Given the description of an element on the screen output the (x, y) to click on. 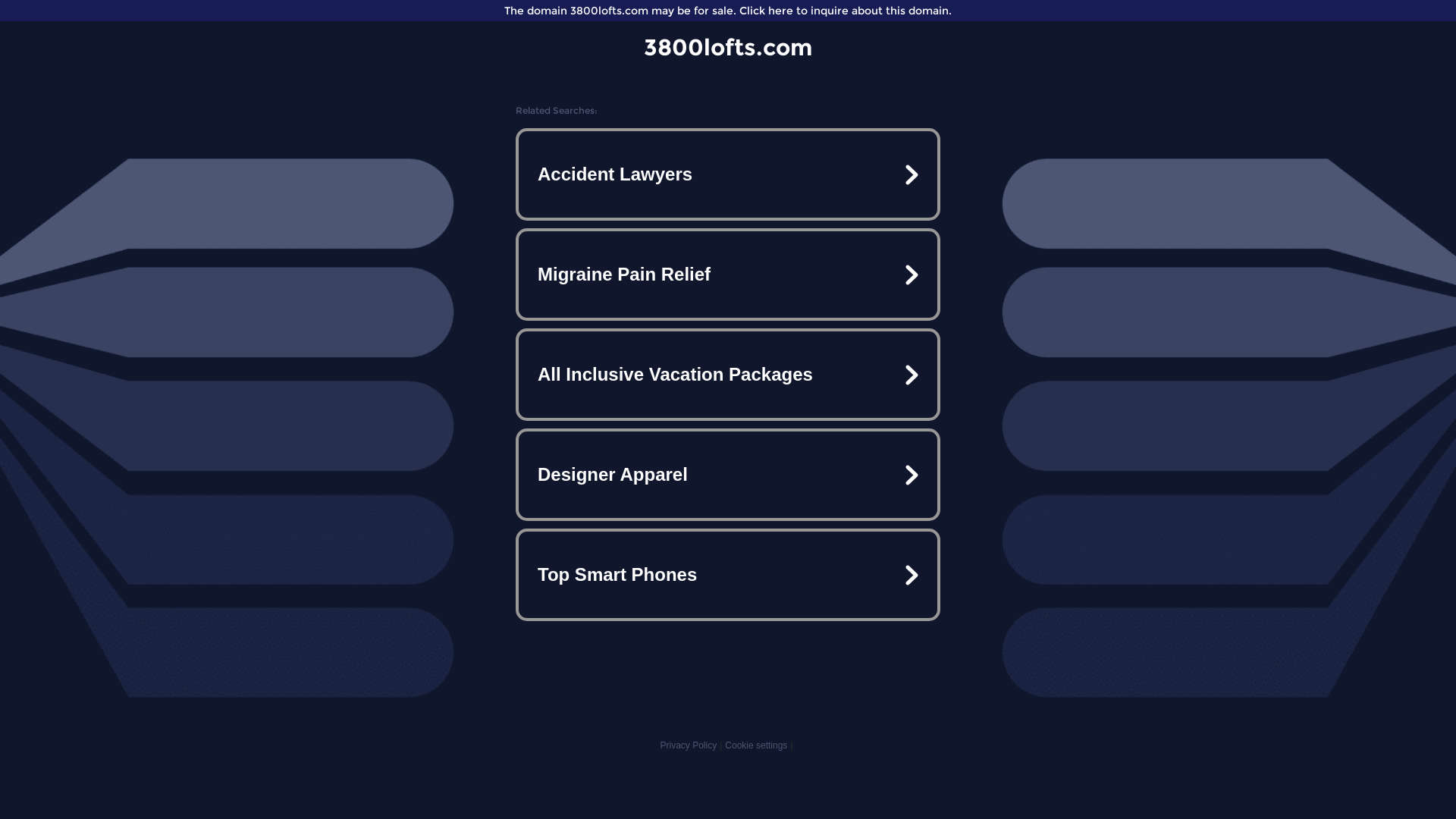
Migraine Pain Relief Element type: text (727, 274)
Top Smart Phones Element type: text (727, 574)
Privacy Policy Element type: text (687, 745)
Accident Lawyers Element type: text (727, 174)
3800lofts.com Element type: text (727, 47)
Cookie settings Element type: text (755, 745)
Designer Apparel Element type: text (727, 474)
All Inclusive Vacation Packages Element type: text (727, 374)
